Given the description of an element on the screen output the (x, y) to click on. 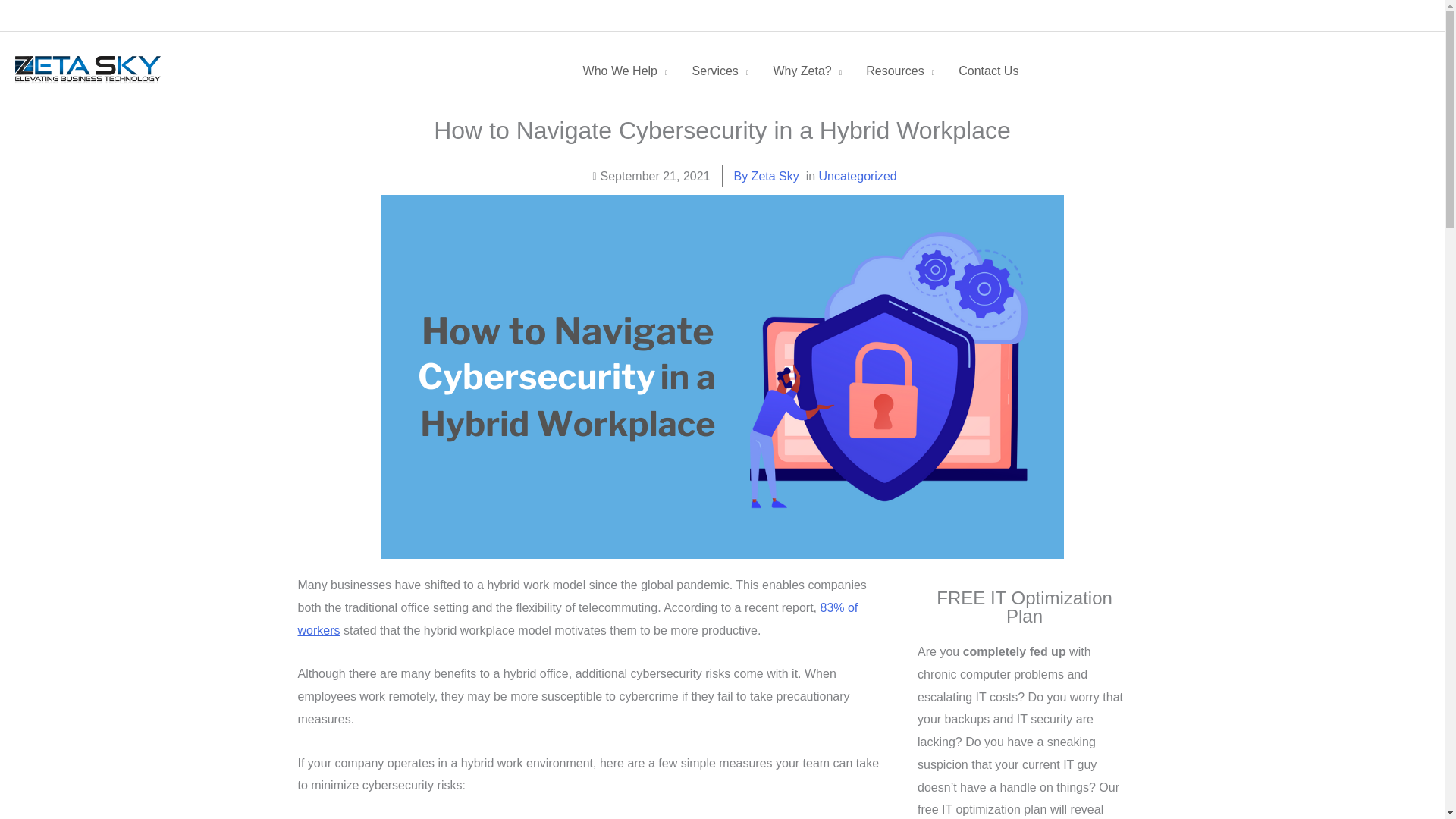
Resources (899, 70)
Services (720, 70)
Who We Help (624, 70)
Why Zeta? (806, 70)
